Given the description of an element on the screen output the (x, y) to click on. 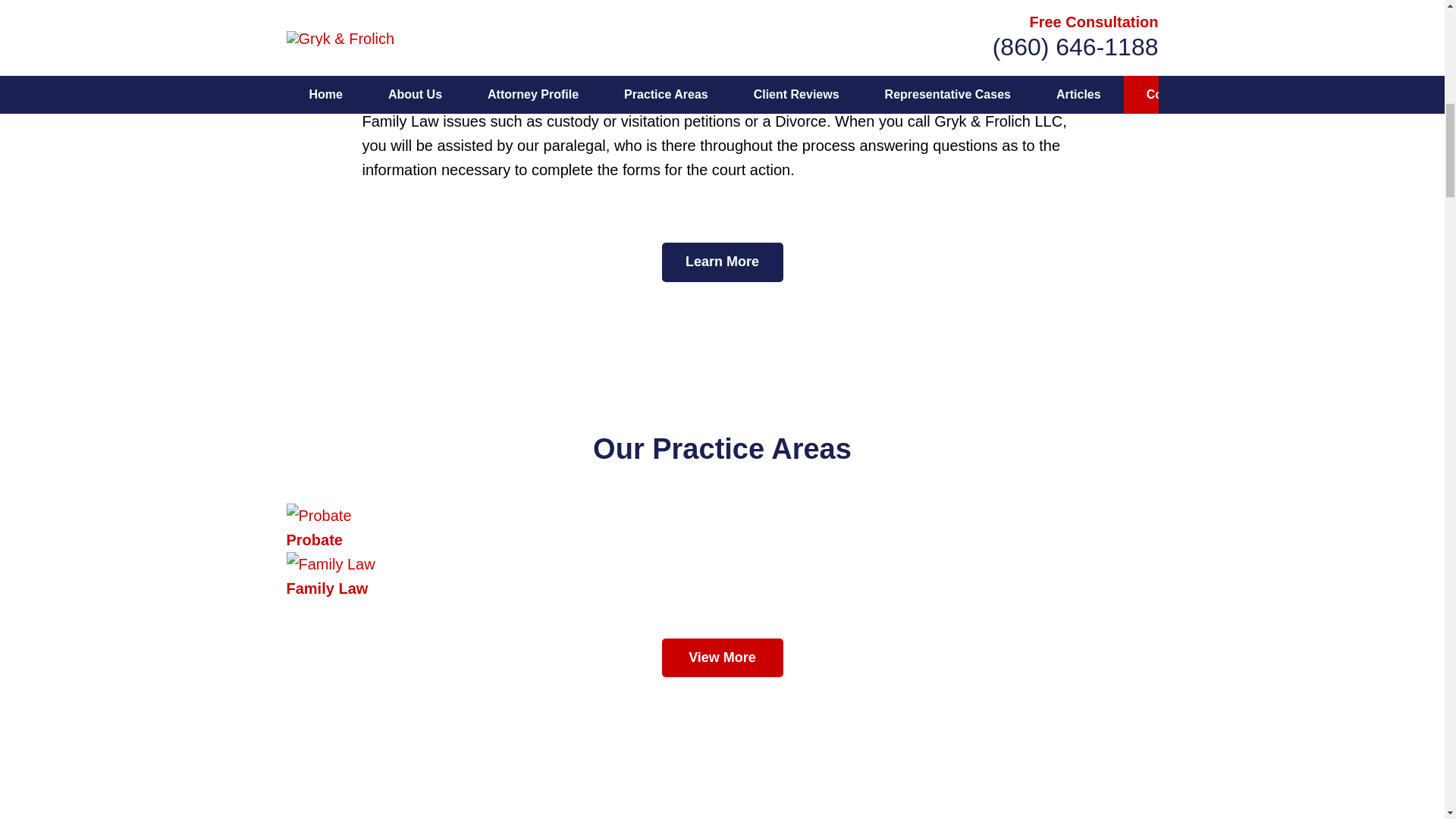
Learn More (722, 261)
Probate (722, 527)
Family Law (722, 576)
View More (722, 658)
